Given the description of an element on the screen output the (x, y) to click on. 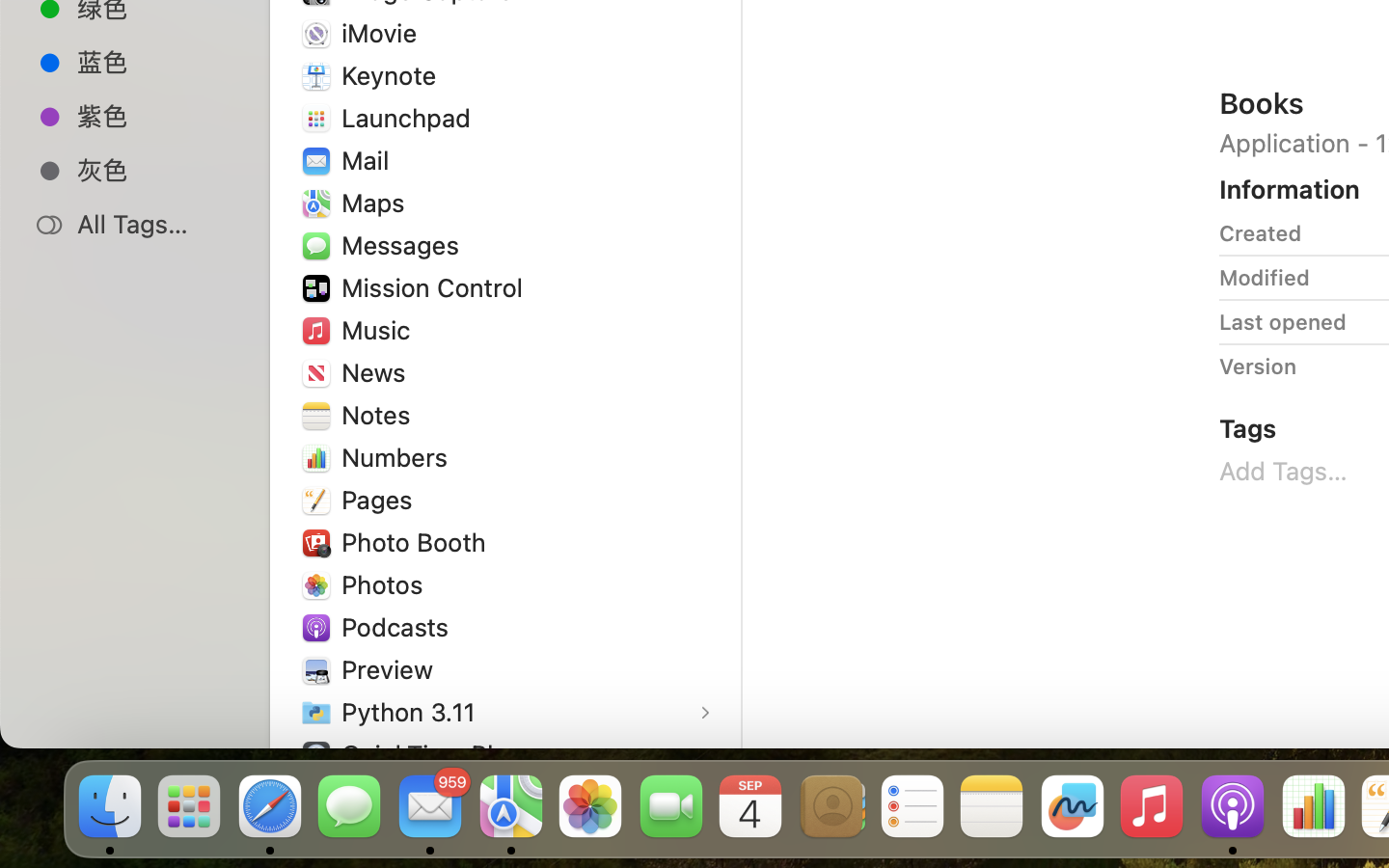
Last opened Element type: AXStaticText (1282, 321)
Modified Element type: AXStaticText (1264, 277)
Numbers Element type: AXTextField (399, 456)
Tags Element type: AXStaticText (1247, 427)
Messages Element type: AXTextField (403, 244)
